Given the description of an element on the screen output the (x, y) to click on. 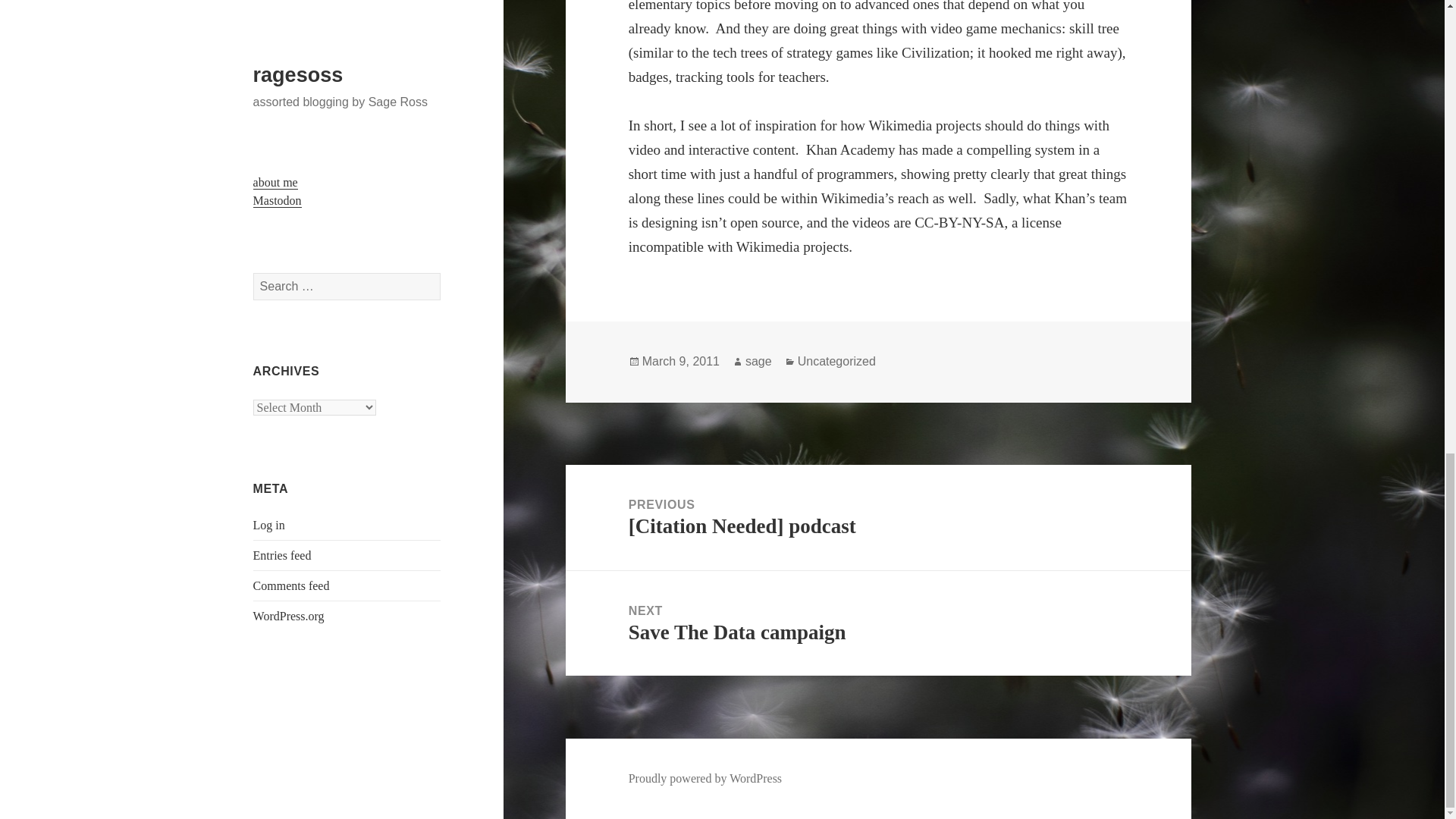
March 9, 2011 (680, 361)
Proudly powered by WordPress (704, 778)
sage (878, 623)
Uncategorized (758, 361)
